Given the description of an element on the screen output the (x, y) to click on. 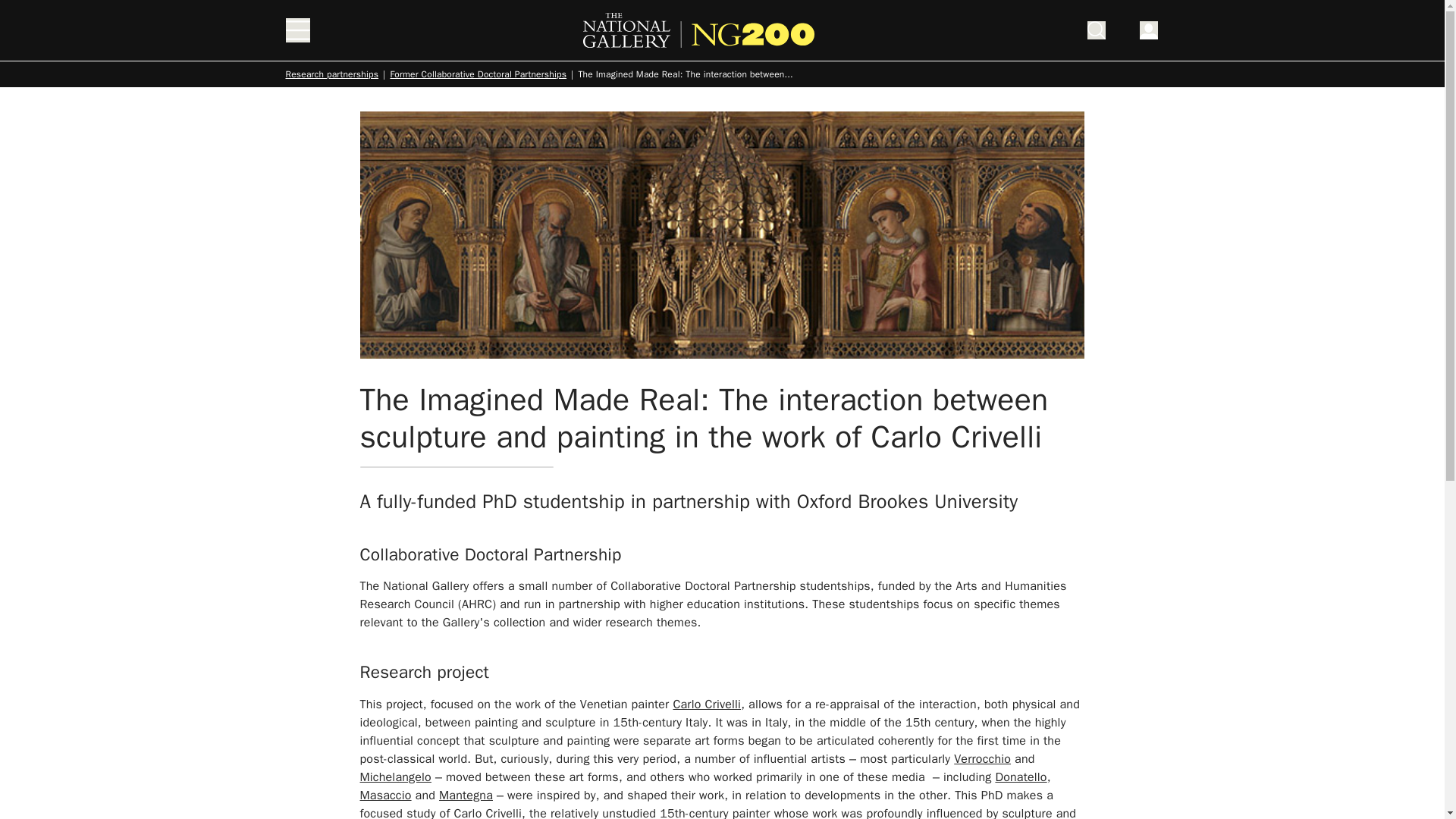
Michelangelo (394, 776)
Donatello (1020, 776)
Andrea del Verrocchio (981, 758)
Masaccio (384, 795)
Carlo Crivelli (706, 703)
Andrea Mantegna (466, 795)
